Given the description of an element on the screen output the (x, y) to click on. 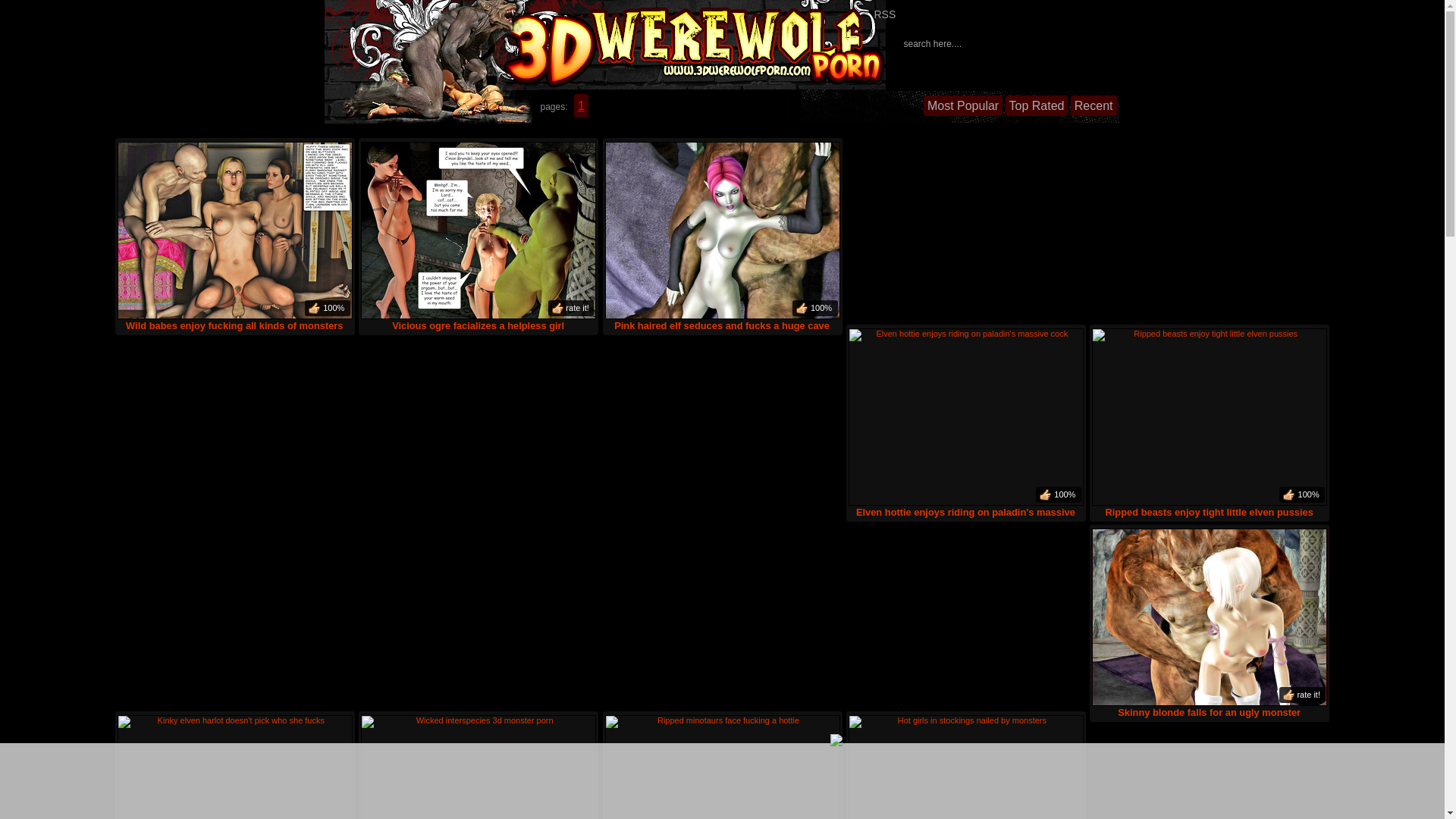
Ripped beasts enjoy tight little elven pussies Element type: text (1209, 424)
Recent Element type: text (1093, 105)
Top Rated Element type: text (1036, 105)
RSS Element type: text (893, 13)
Skinny blonde falls for an ugly monster Element type: text (1209, 624)
Pink haired elf seduces and fucks a huge cave troll Element type: text (721, 237)
Elven hottie enjoys riding on paladin's massive cock Element type: text (965, 424)
Vicious ogre facializes a helpless girl Element type: text (478, 237)
Wild babes enjoy fucking all kinds of monsters Element type: text (234, 237)
Most Popular Element type: text (962, 105)
